Given the description of an element on the screen output the (x, y) to click on. 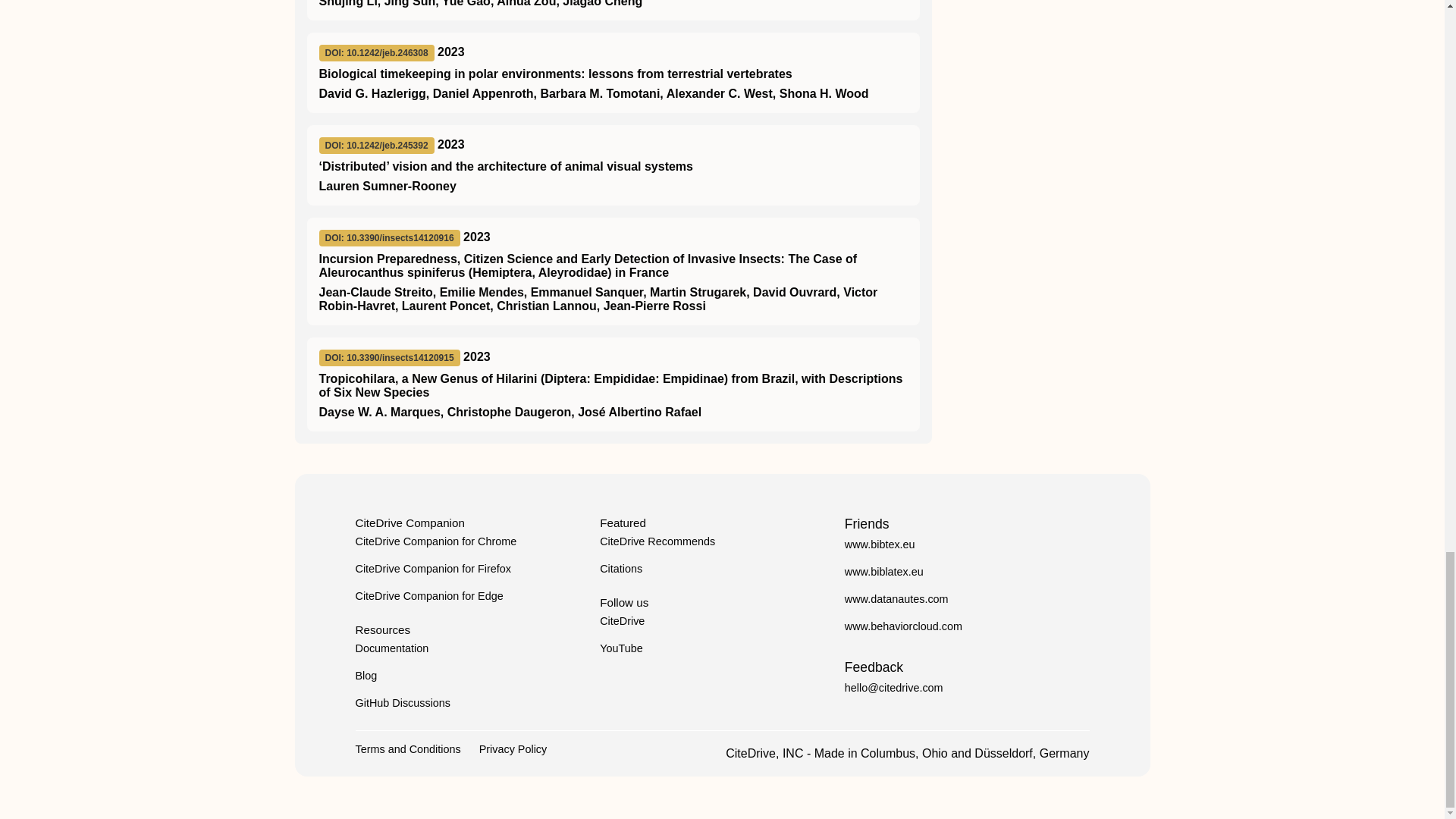
YouTube (621, 648)
GitHub Discussions (402, 702)
CiteDrive Recommends (656, 541)
CiteDrive Companion for Edge (428, 595)
CiteDrive Companion for Chrome (435, 541)
CiteDrive Companion for Firefox (433, 568)
CiteDrive (622, 621)
Citations (620, 568)
Documentation (391, 648)
Blog (366, 675)
